Given the description of an element on the screen output the (x, y) to click on. 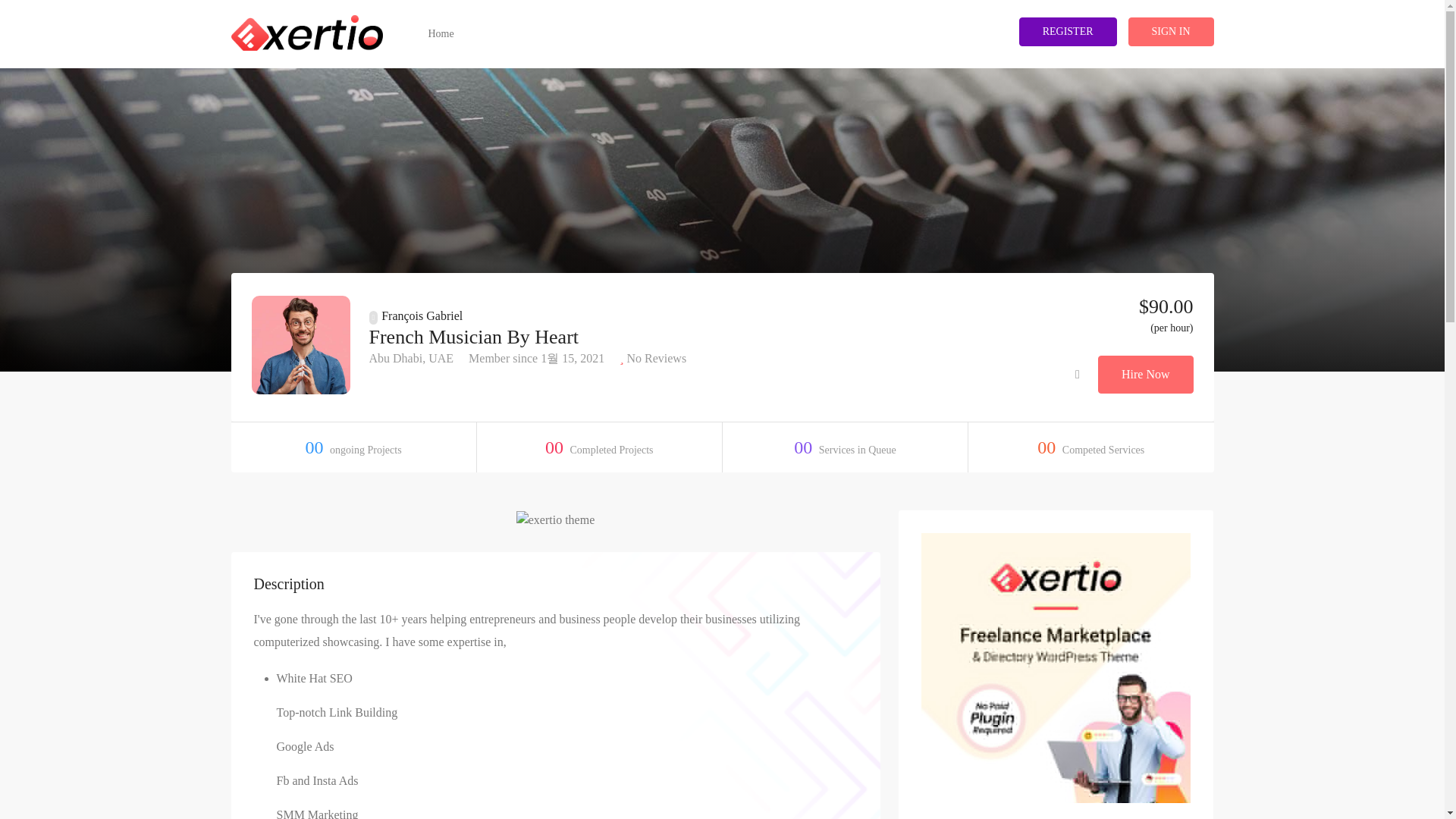
SIGN IN (1171, 31)
REGISTER (1067, 31)
Hire Now (1145, 374)
